Given the description of an element on the screen output the (x, y) to click on. 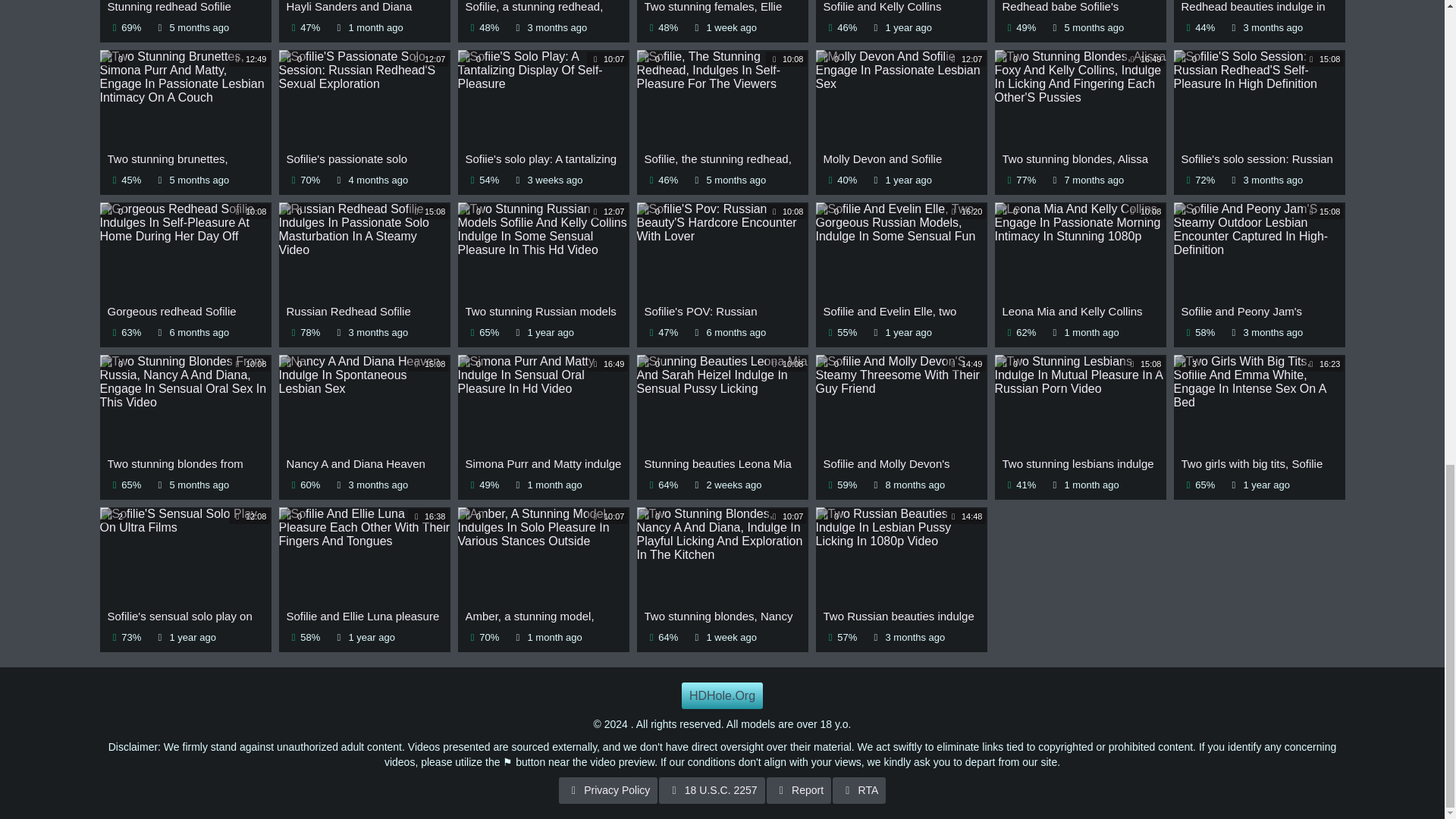
Privacy Policy (608, 790)
